Given the description of an element on the screen output the (x, y) to click on. 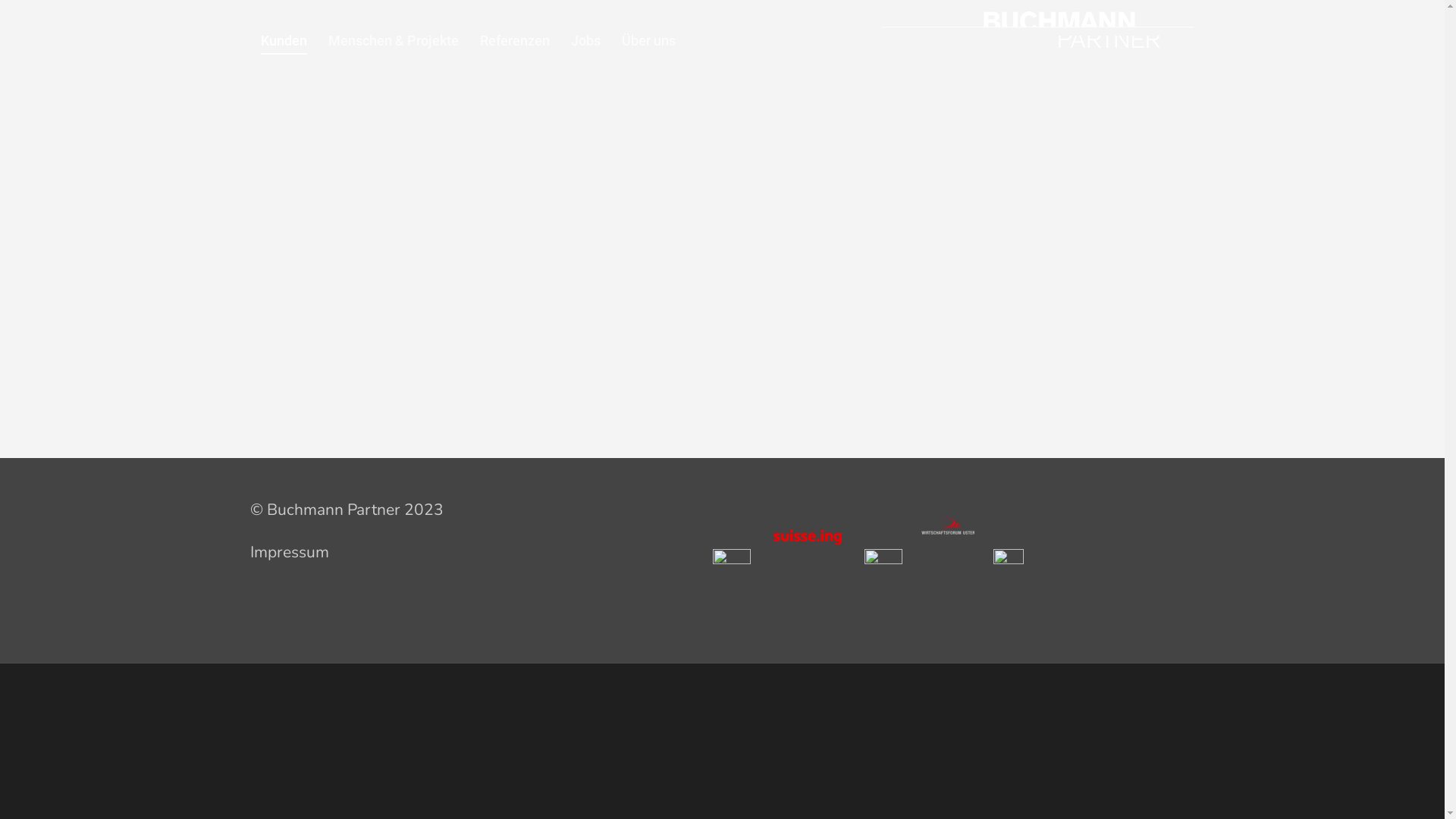
Kunden Element type: text (283, 45)
Impressum Element type: text (289, 551)
Jobs Element type: text (585, 45)
Referenzen Element type: text (514, 45)
Menschen & Projekte Element type: text (393, 45)
